Given the description of an element on the screen output the (x, y) to click on. 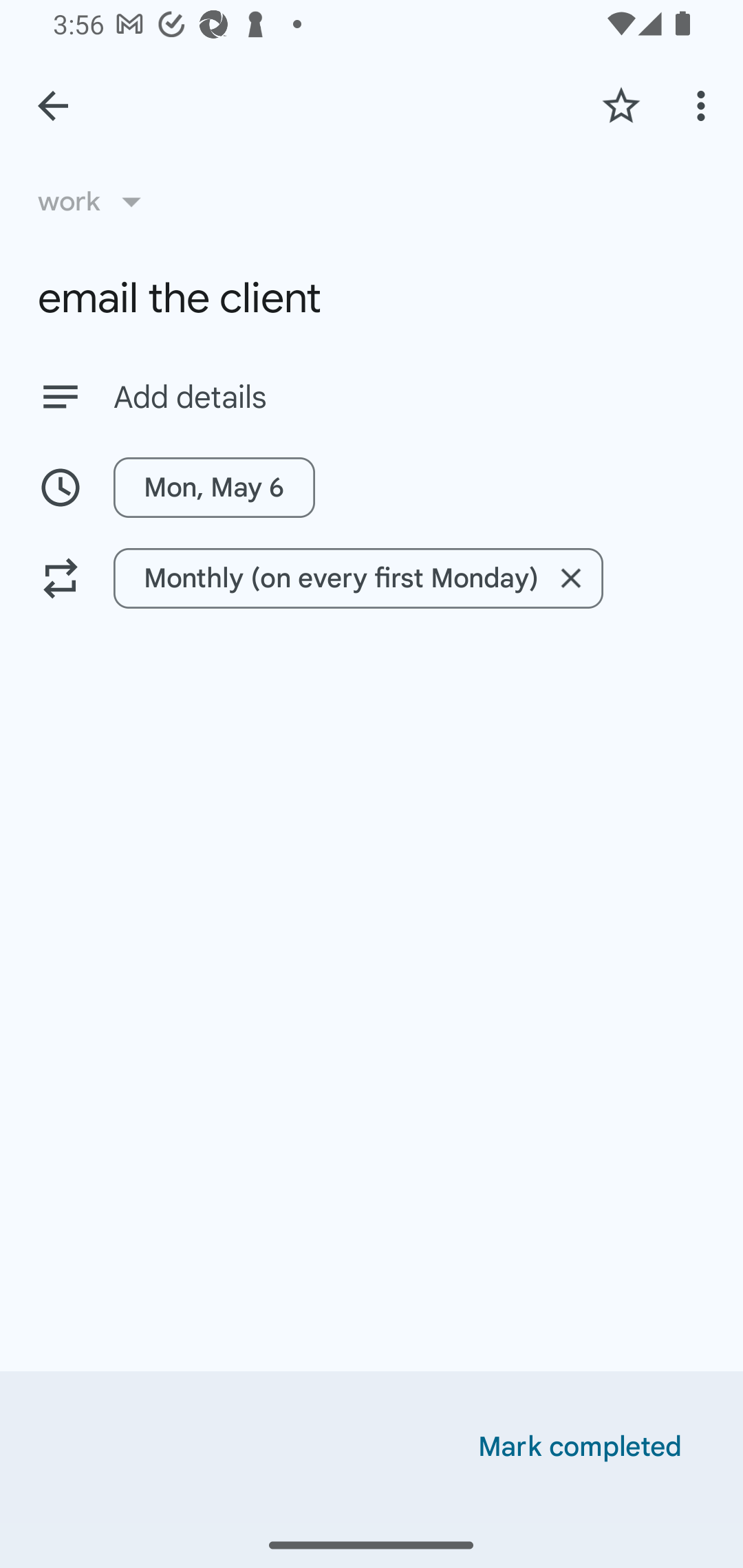
Back (53, 105)
Add star (620, 105)
More options (704, 105)
work List, work selected, 1 of 19 (95, 201)
email the client (371, 298)
Add details (371, 396)
Add details (409, 397)
Mon, May 6 (371, 487)
Mon, May 6 (214, 487)
Monthly (on every first Monday) End repeating (371, 578)
Monthly (on every first Monday) End repeating (358, 578)
Mark completed (580, 1446)
